Given the description of an element on the screen output the (x, y) to click on. 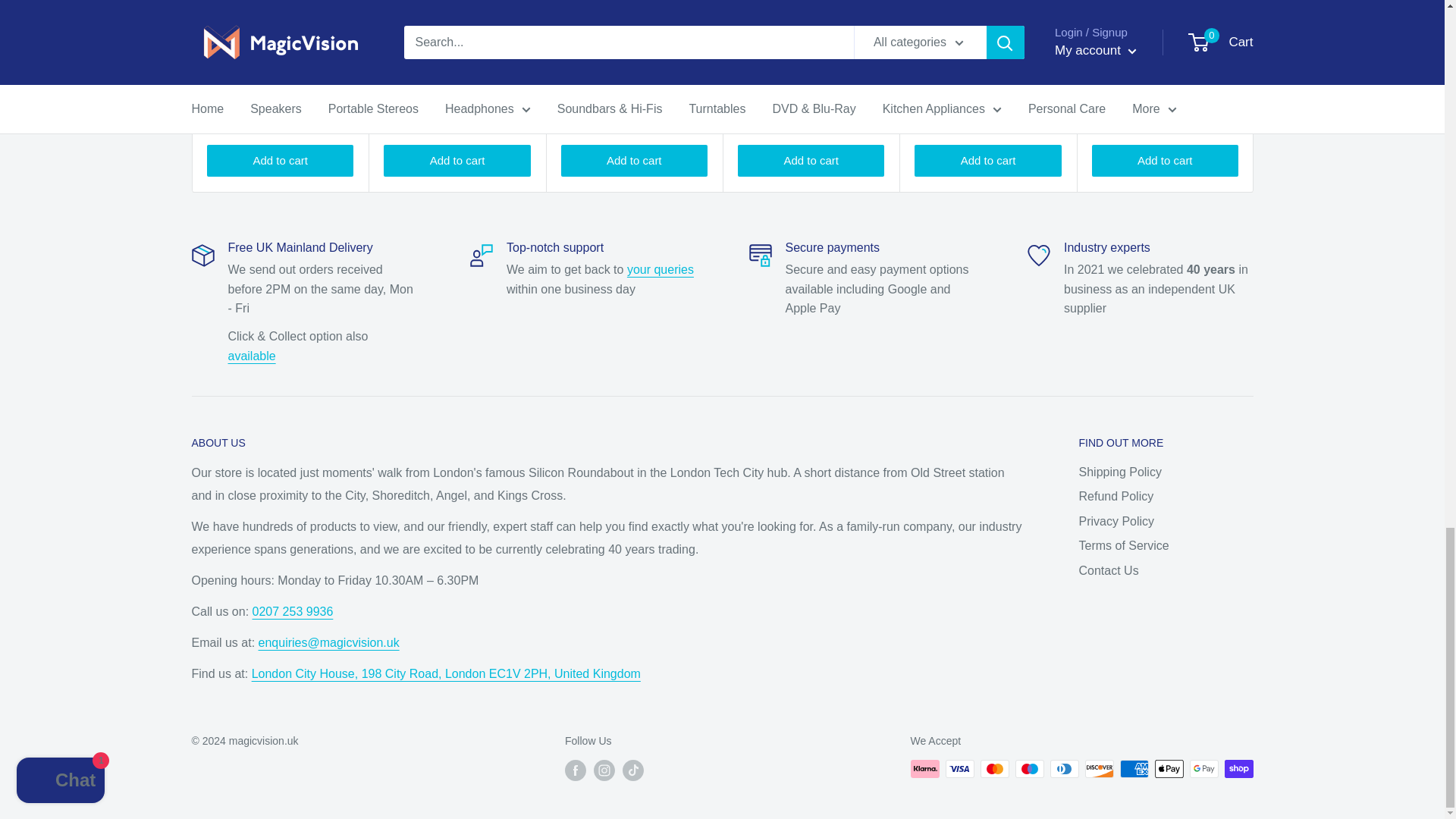
MagicVision (445, 673)
Shipping Policy (251, 355)
